Given the description of an element on the screen output the (x, y) to click on. 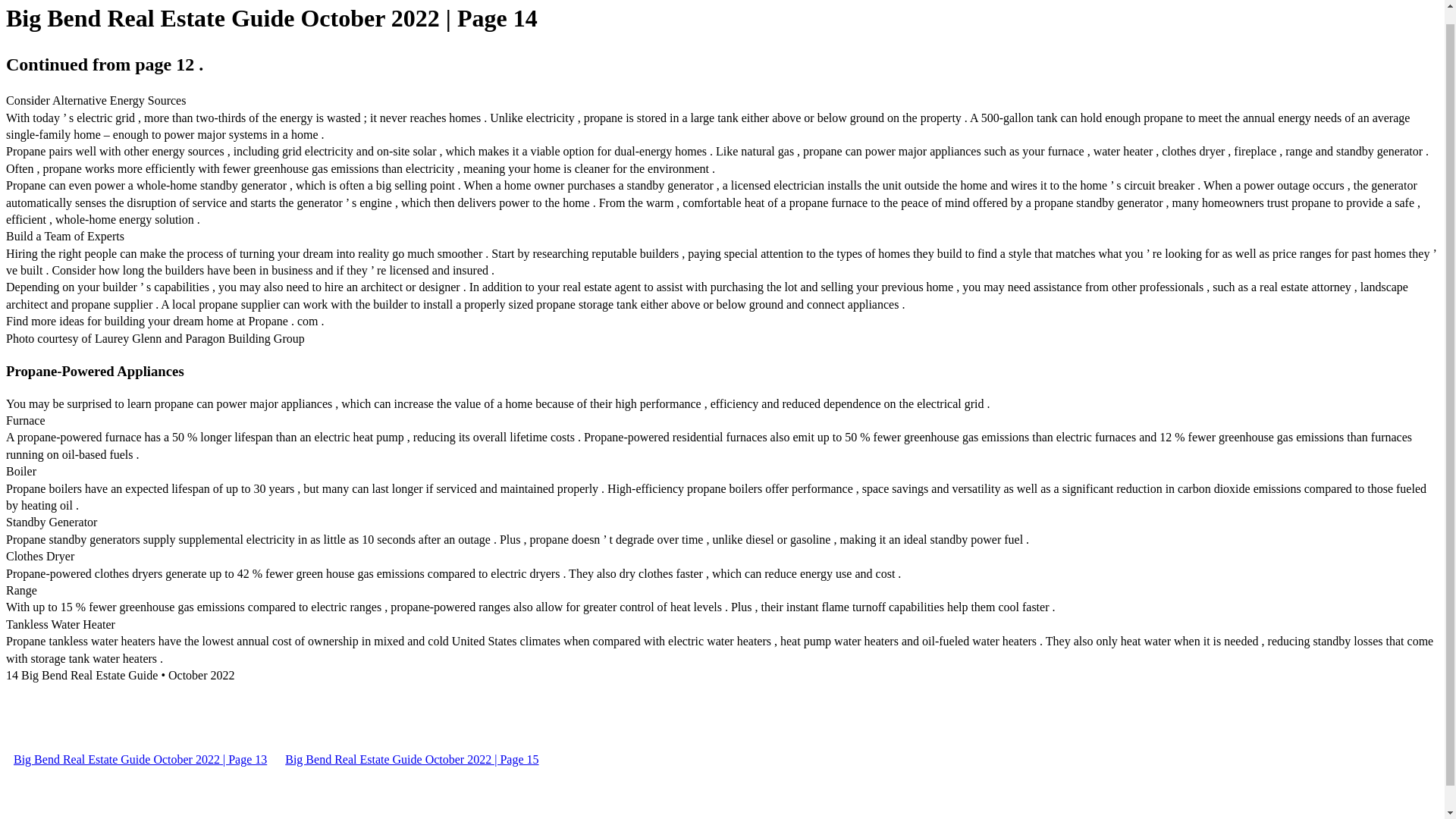
Continued from page 12 . (104, 64)
